Given the description of an element on the screen output the (x, y) to click on. 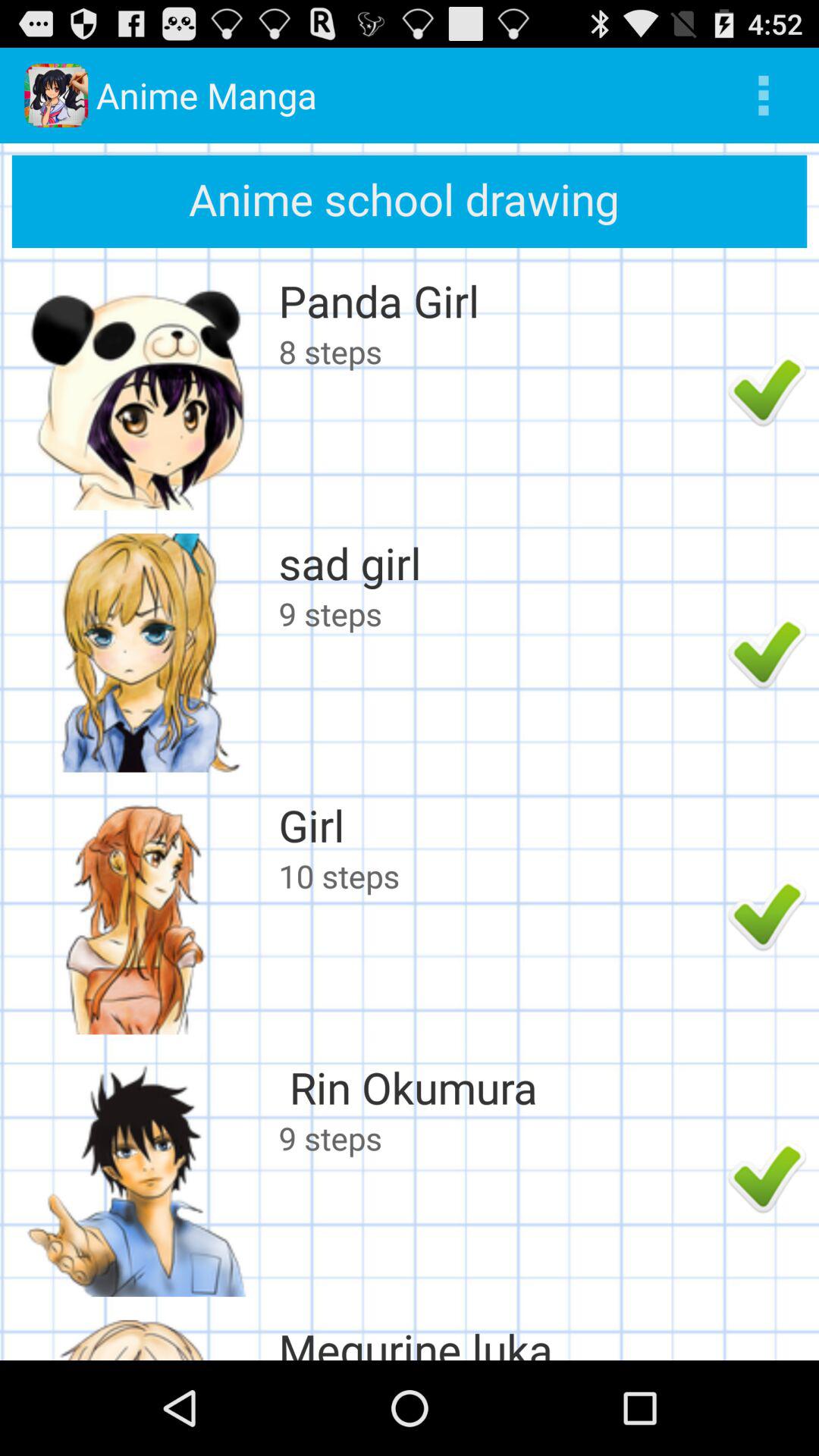
select megurine luka item (498, 1340)
